Given the description of an element on the screen output the (x, y) to click on. 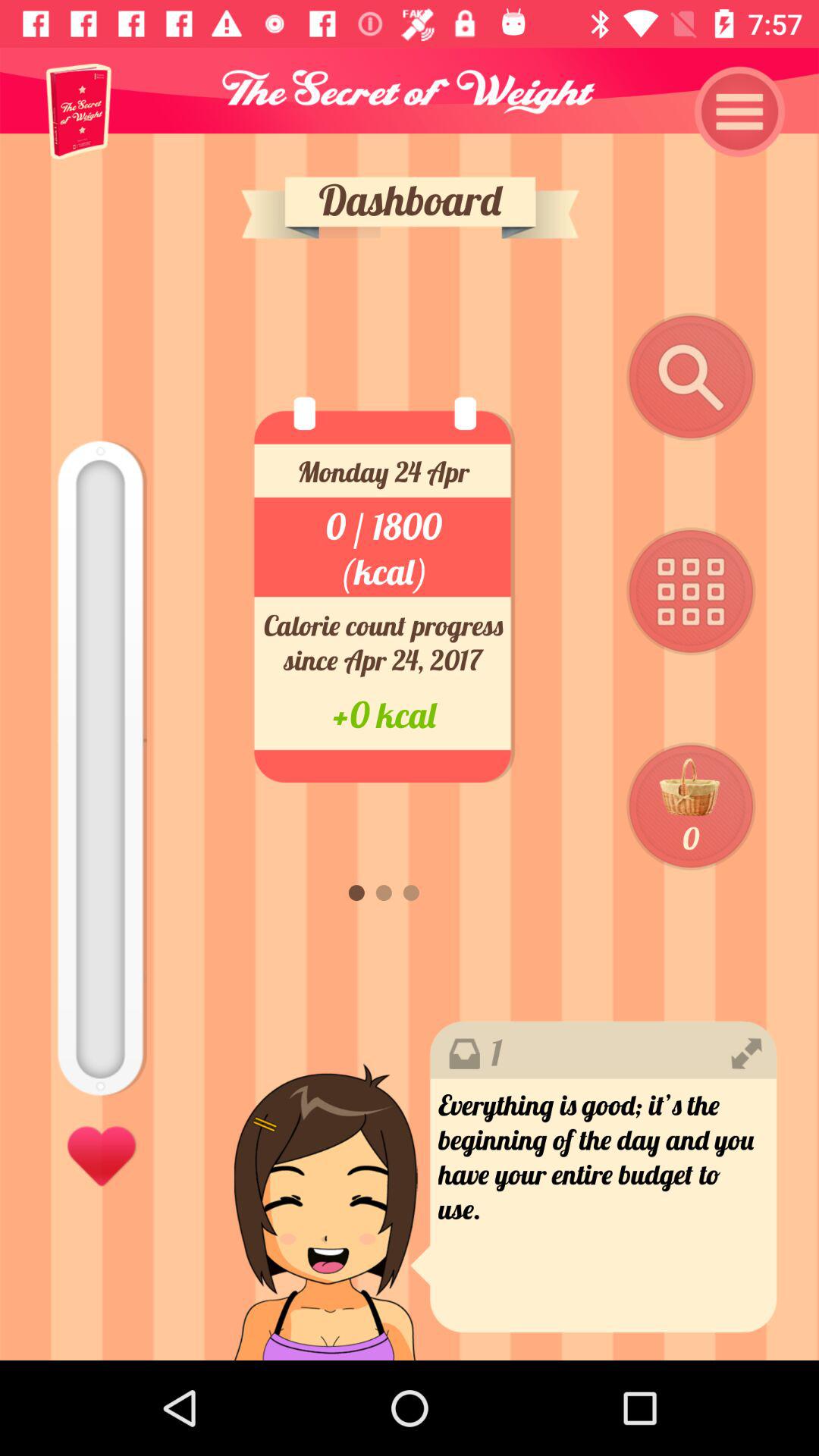
click on the option which is below the search button (690, 592)
click on the right icon above the black colored text (746, 1052)
